Given the description of an element on the screen output the (x, y) to click on. 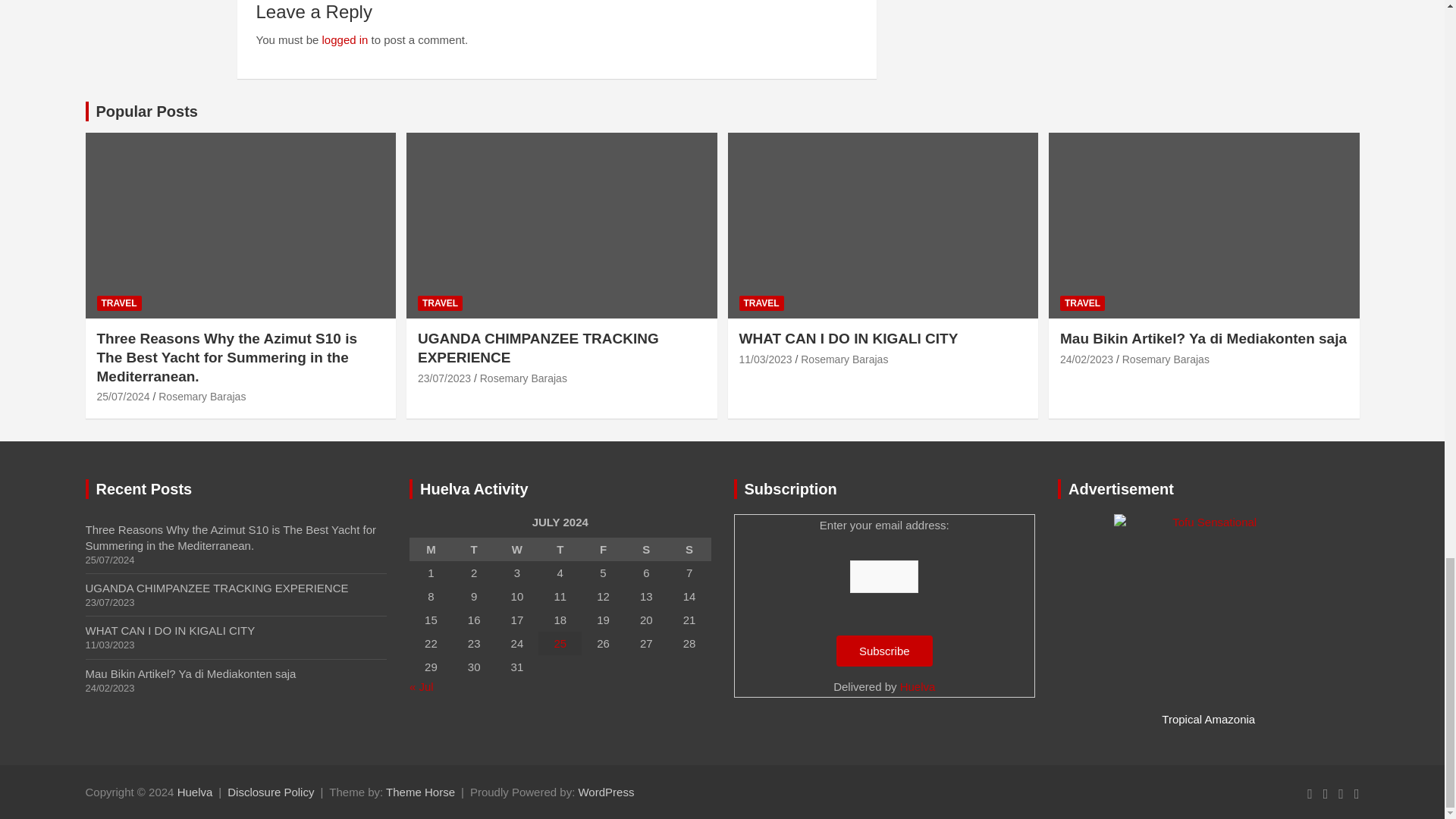
Monday (430, 549)
Tuesday (474, 549)
WHAT CAN I DO IN KIGALI CITY (765, 358)
Wednesday (517, 549)
UGANDA CHIMPANZEE TRACKING EXPERIENCE (443, 378)
logged in (344, 39)
Subscribe (884, 650)
Mau Bikin Artikel? Ya di Mediakonten saja (1086, 358)
